Given the description of an element on the screen output the (x, y) to click on. 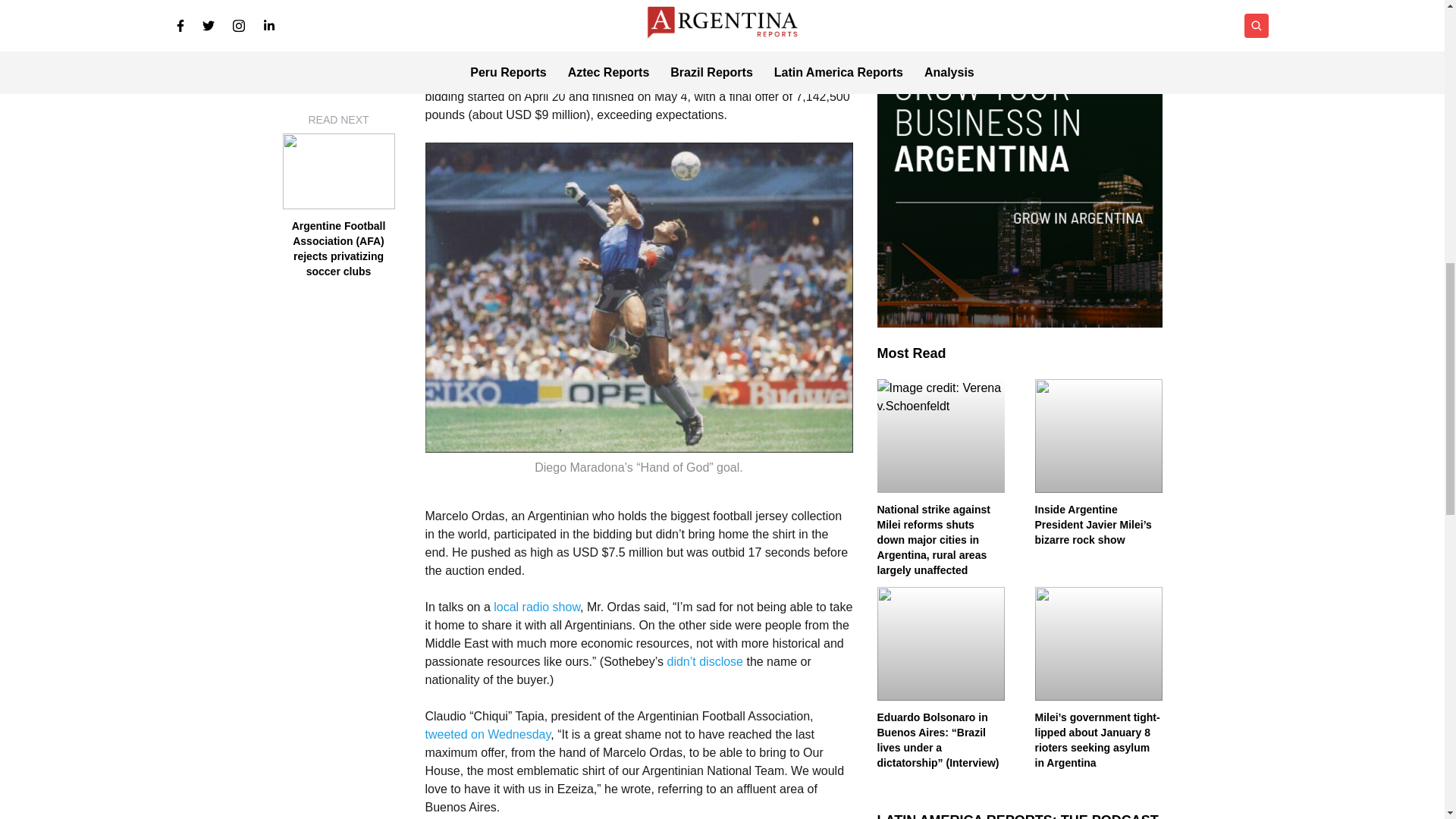
put up for auction (532, 78)
local radio show (536, 606)
tweeted on Wednesday (487, 734)
